Given the description of an element on the screen output the (x, y) to click on. 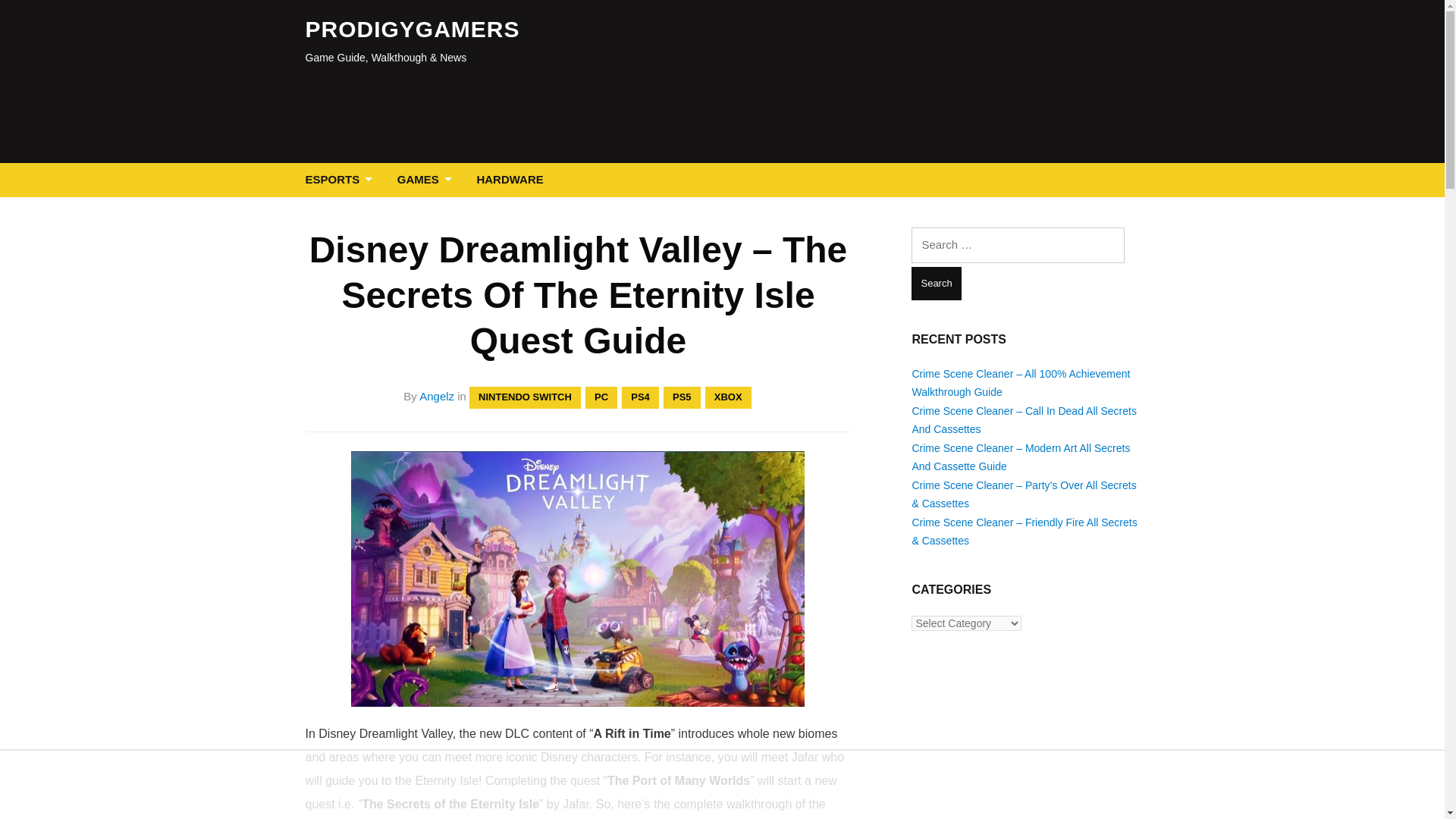
Posts by Angelz (436, 395)
PS4 (640, 397)
XBOX (727, 397)
HARDWARE (509, 179)
GAMES (427, 179)
Search (935, 283)
Search (935, 283)
PRODIGYGAMERS (411, 28)
Angelz (436, 395)
NINTENDO SWITCH (524, 397)
